Given the description of an element on the screen output the (x, y) to click on. 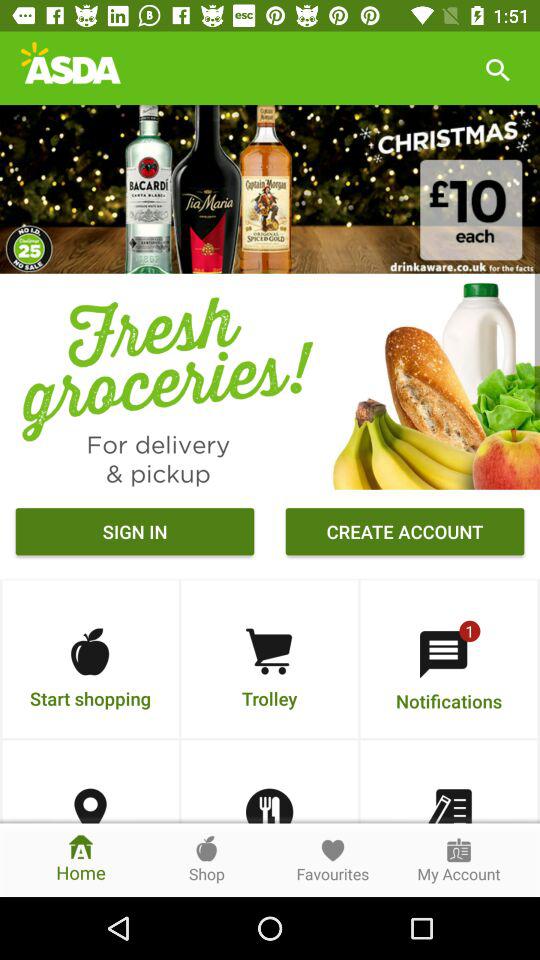
turn on the sign in icon (134, 534)
